Given the description of an element on the screen output the (x, y) to click on. 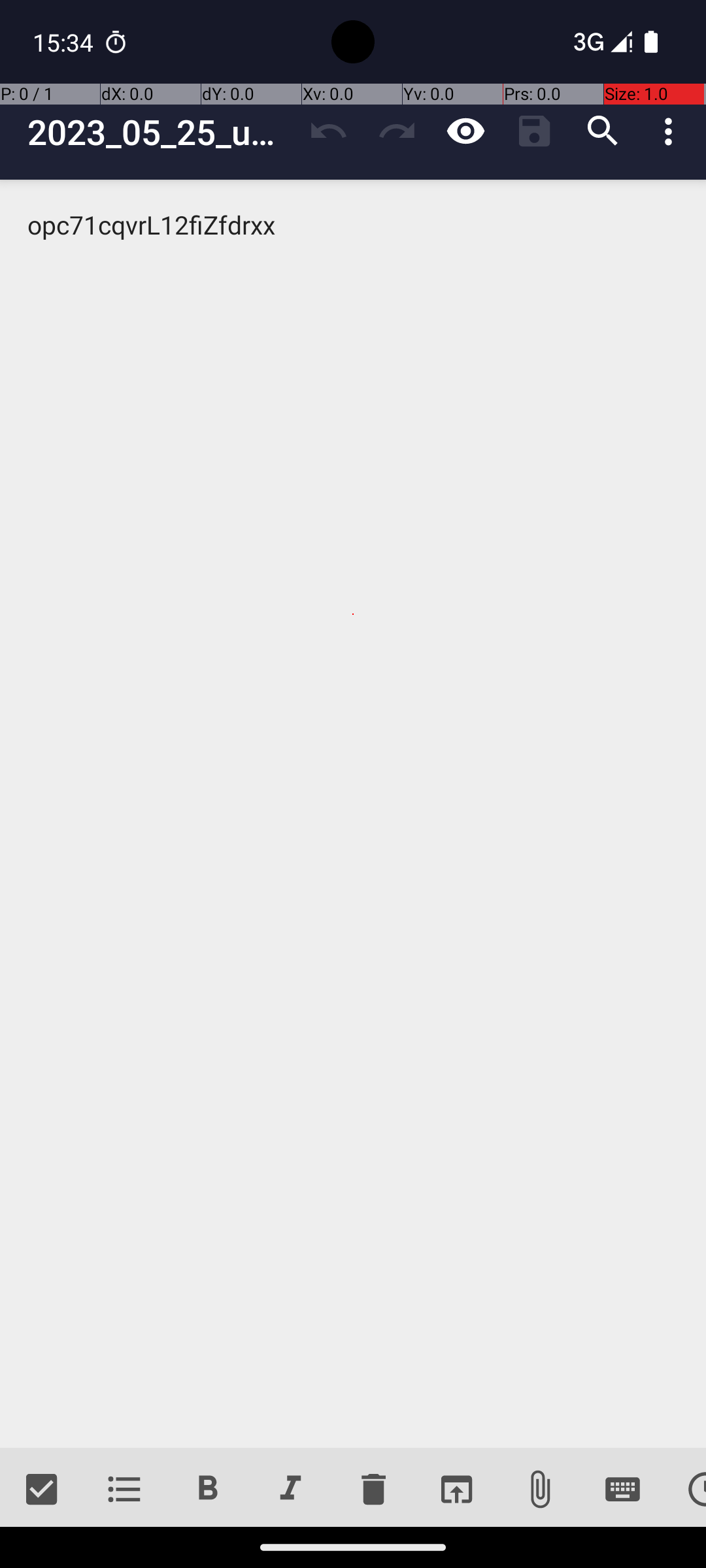
2023_05_25_upcoming_presentation_outline Element type: android.widget.TextView (160, 131)
opc71cqvrL12fiZfdrxx
 Element type: android.widget.EditText (353, 813)
